Given the description of an element on the screen output the (x, y) to click on. 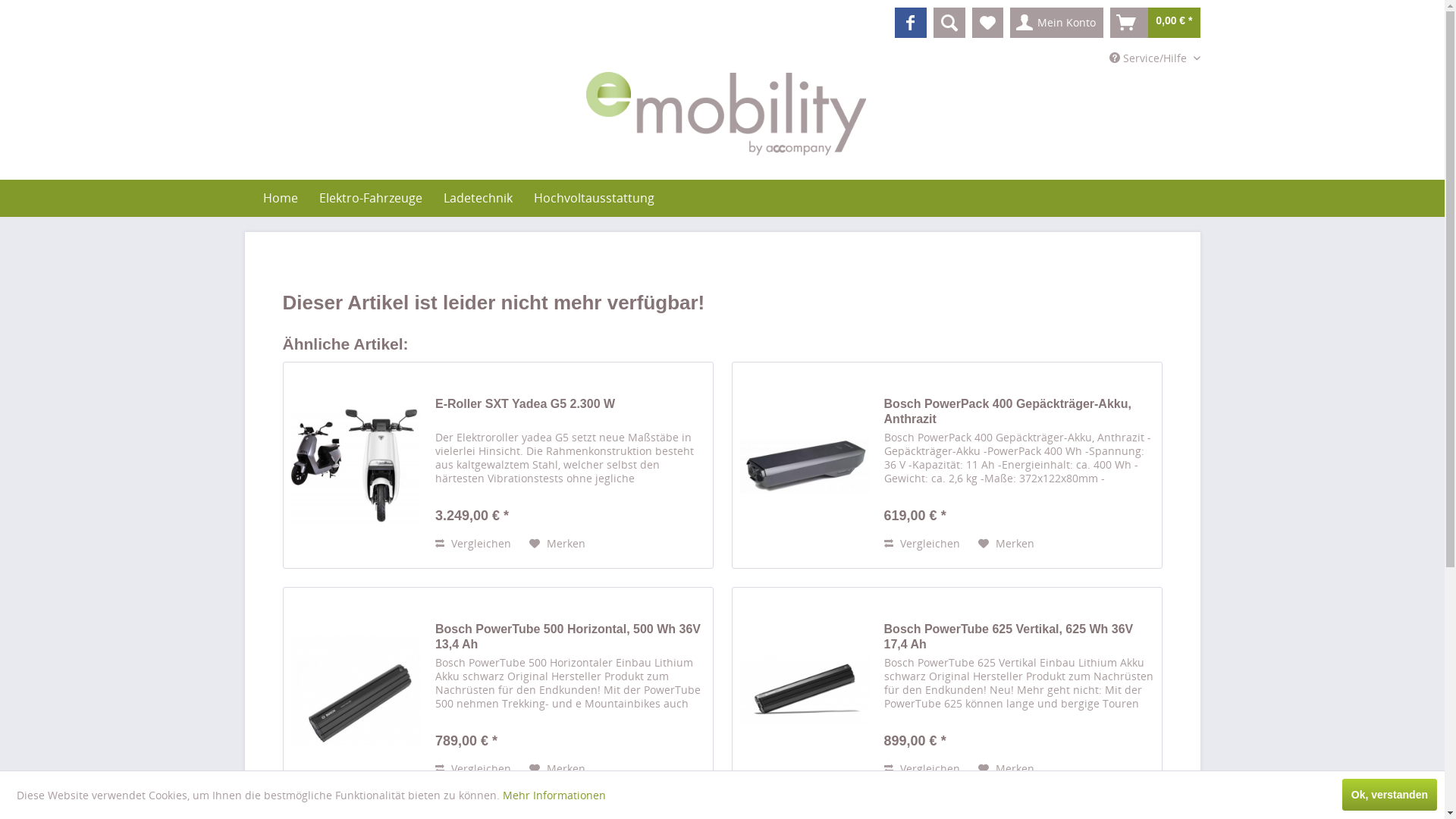
Vergleichen Element type: text (473, 768)
Vergleichen Element type: text (473, 543)
78010_275007544.jpg Element type: hover (804, 689)
Folgen sie uns auf Facebook Element type: hover (910, 22)
Elektro-Fahrzeuge Element type: text (369, 197)
Merken Element type: text (1006, 768)
Merken Element type: text (557, 768)
Ladetechnik Element type: text (477, 197)
Bosch PowerTube 500 Horizontal, 500 Wh 36V 13,4 Ah Element type: hover (355, 690)
Home Element type: text (279, 197)
Mehr Informationen Element type: text (553, 794)
E-Roller SXT Yadea G5 2.300 W Element type: hover (355, 464)
78019_ESCG5.jpg Element type: hover (355, 465)
E-Roller SXT Yadea G5 2.300 W Element type: text (570, 411)
Vergleichen Element type: text (922, 768)
Merkzettel Element type: hover (987, 22)
Vergleichen Element type: text (922, 543)
Merken Element type: text (557, 543)
78010_275007522.jpg Element type: hover (804, 465)
Hochvoltausstattung Element type: text (594, 197)
Ok, verstanden Element type: text (1389, 794)
Bosch PowerTube 625 Vertikal, 625 Wh 36V 17,4 Ah Element type: hover (804, 690)
78010_275007539.jpg Element type: hover (355, 690)
Merken Element type: text (1006, 543)
Bosch PowerTube 625 Vertikal, 625 Wh 36V 17,4 Ah Element type: text (1019, 636)
Bosch PowerTube 500 Horizontal, 500 Wh 36V 13,4 Ah Element type: text (570, 636)
accompany - eMobility-shop - zur Startseite wechseln Element type: hover (726, 113)
Mein Konto Element type: text (1056, 22)
